Given the description of an element on the screen output the (x, y) to click on. 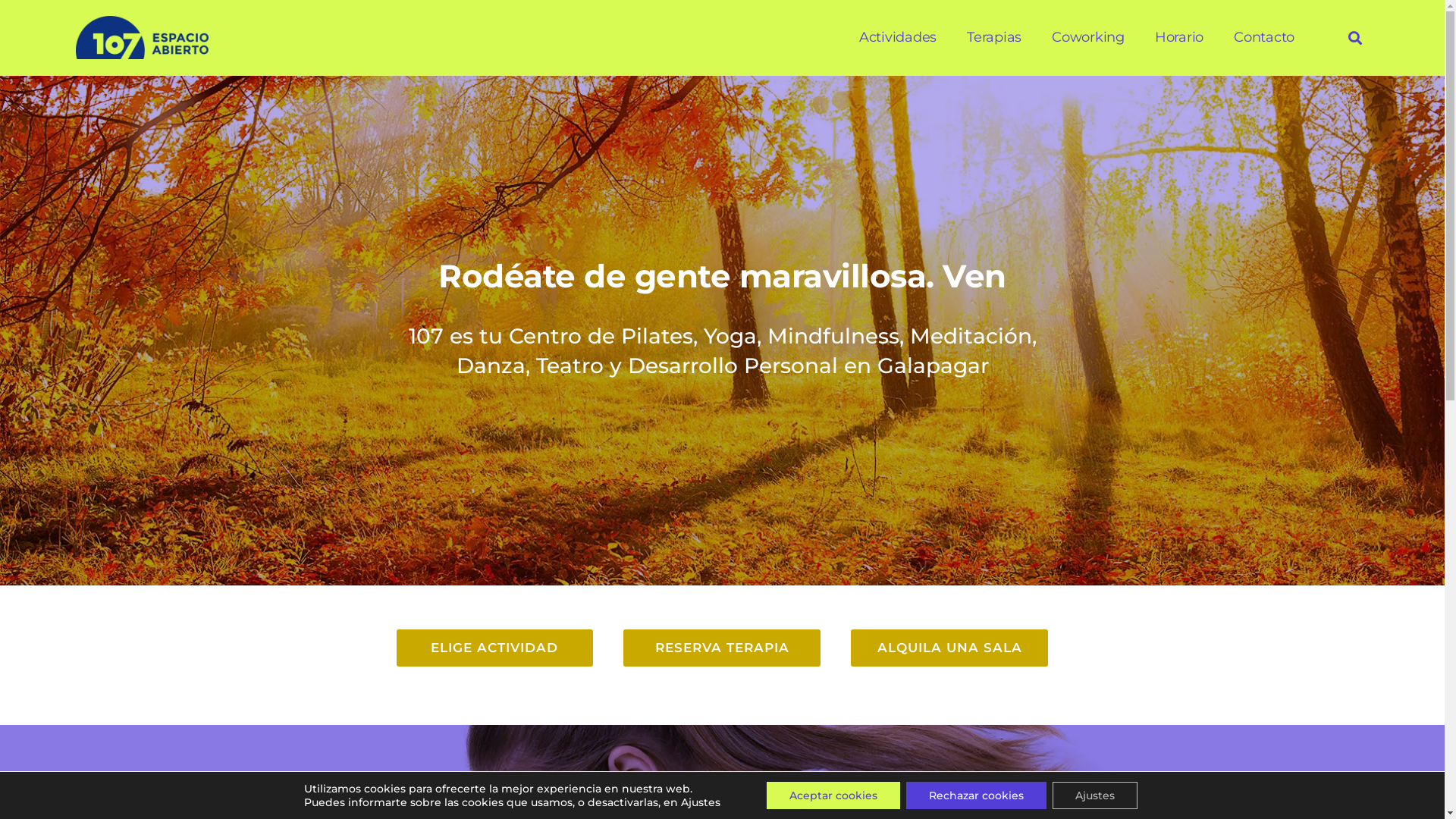
Coworking Element type: text (1087, 37)
Actividades Element type: text (897, 37)
ELIGE ACTIVIDAD Element type: text (494, 647)
Ajustes Element type: text (1094, 795)
Aceptar cookies Element type: text (833, 795)
Terapias Element type: text (993, 37)
Horario Element type: text (1178, 37)
Contacto Element type: text (1263, 37)
ALQUILA UNA SALA Element type: text (949, 647)
RESERVA TERAPIA Element type: text (721, 647)
Rechazar cookies Element type: text (976, 795)
